Given the description of an element on the screen output the (x, y) to click on. 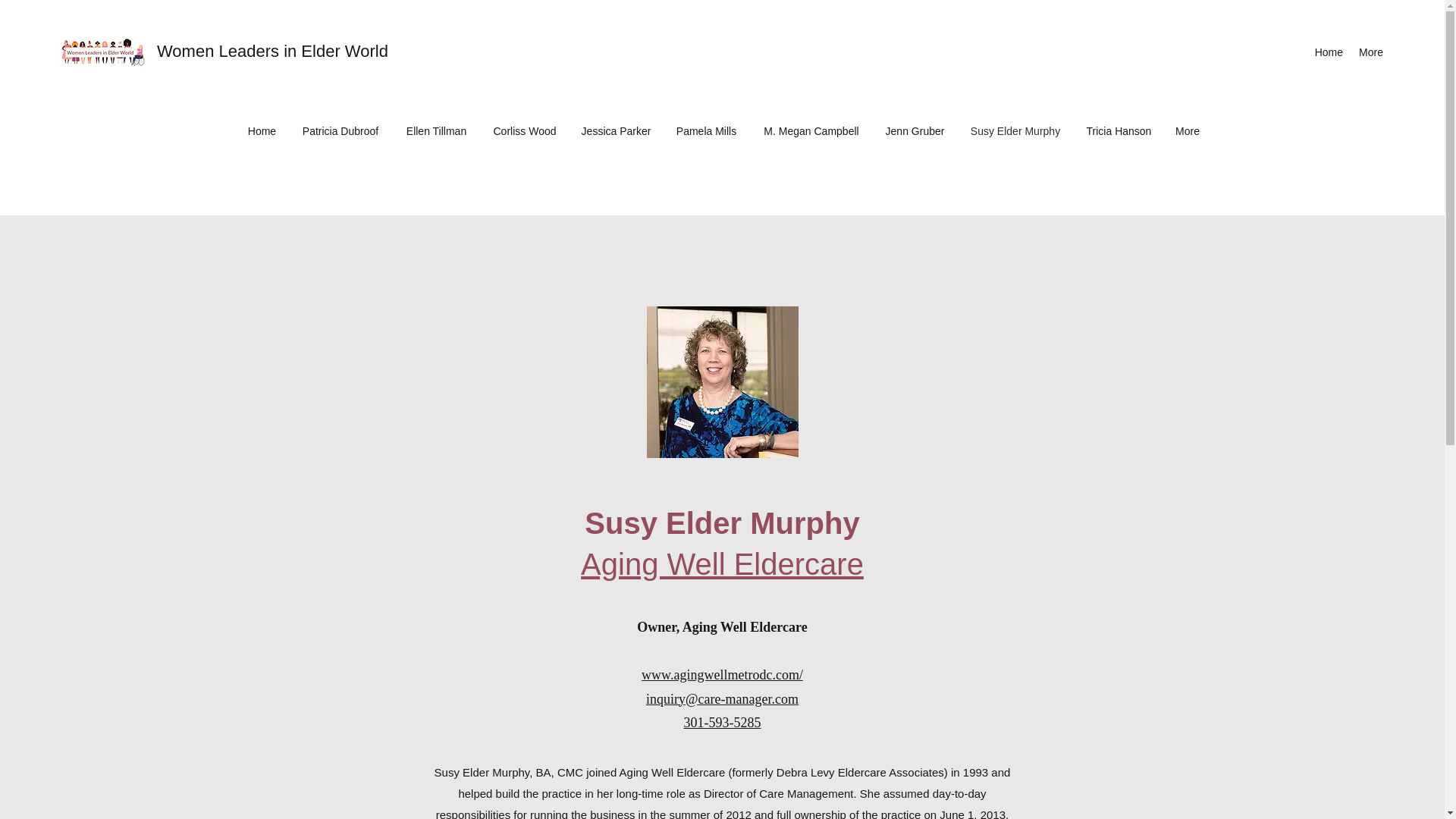
Susy Elder Murphy (1015, 131)
Aging Well Eldercare (721, 563)
Patricia Dubroof (339, 131)
M. Megan Campbell (810, 131)
Women Leaders in Elder World (272, 50)
Home (1328, 51)
301-593-5285 (722, 722)
